Given the description of an element on the screen output the (x, y) to click on. 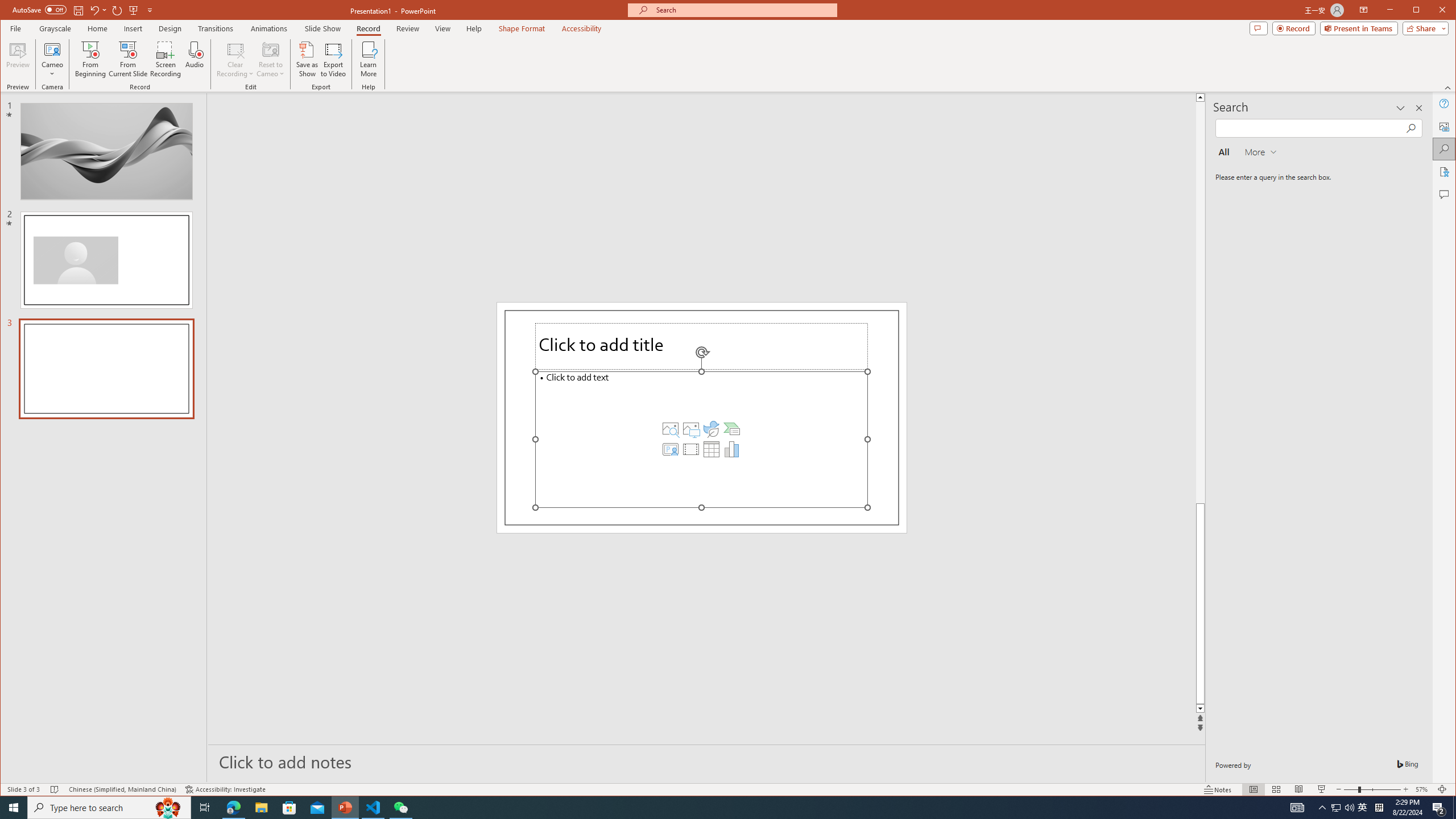
Zoom 57% (1422, 789)
Grayscale (55, 28)
Clear Recording (234, 59)
